Given the description of an element on the screen output the (x, y) to click on. 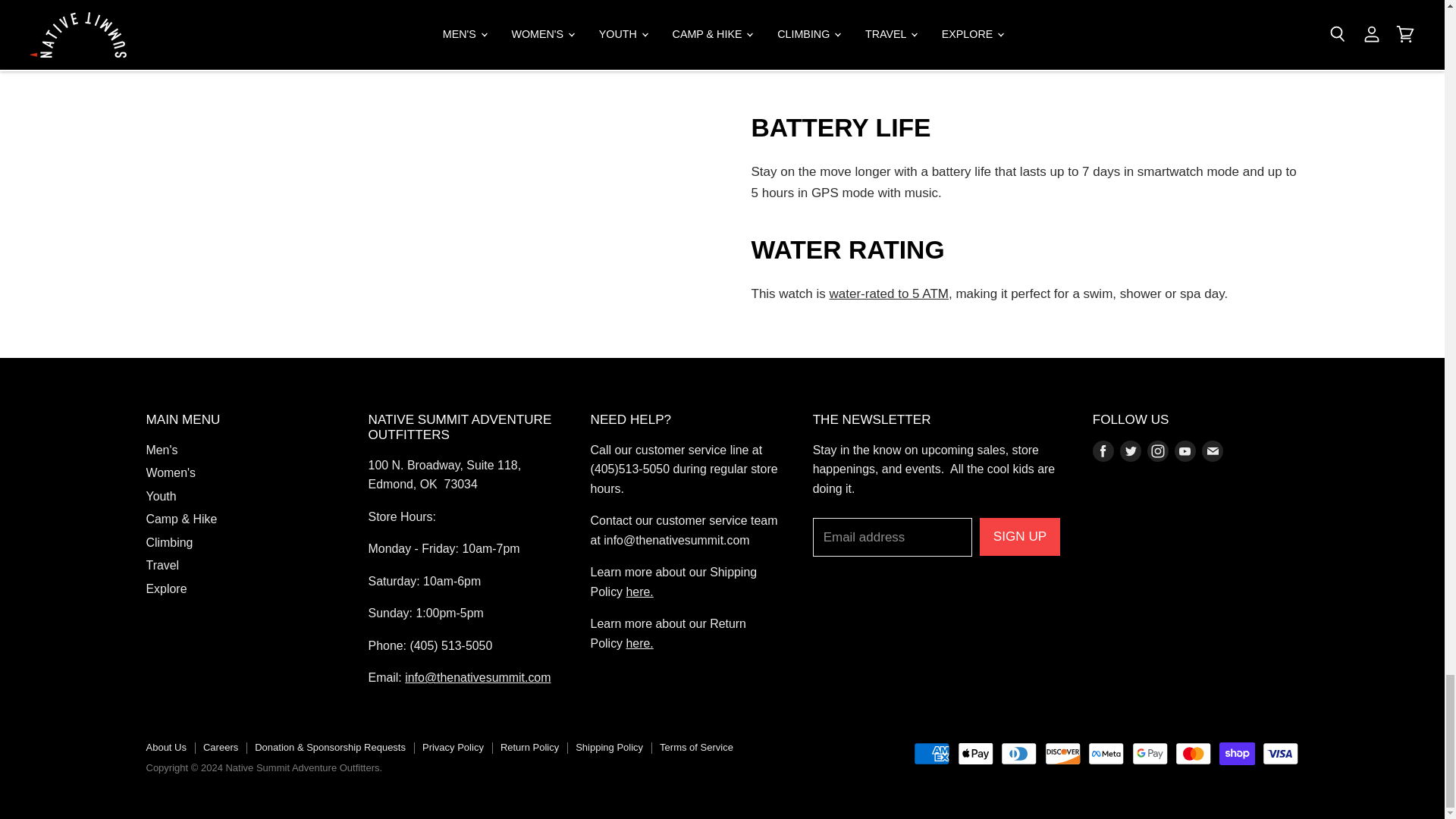
E-mail (1211, 451)
Refund Policy (639, 643)
Shipping Policy (639, 591)
Youtube (1185, 451)
Facebook (1102, 451)
Twitter (1130, 451)
Instagram (1158, 451)
